Given the description of an element on the screen output the (x, y) to click on. 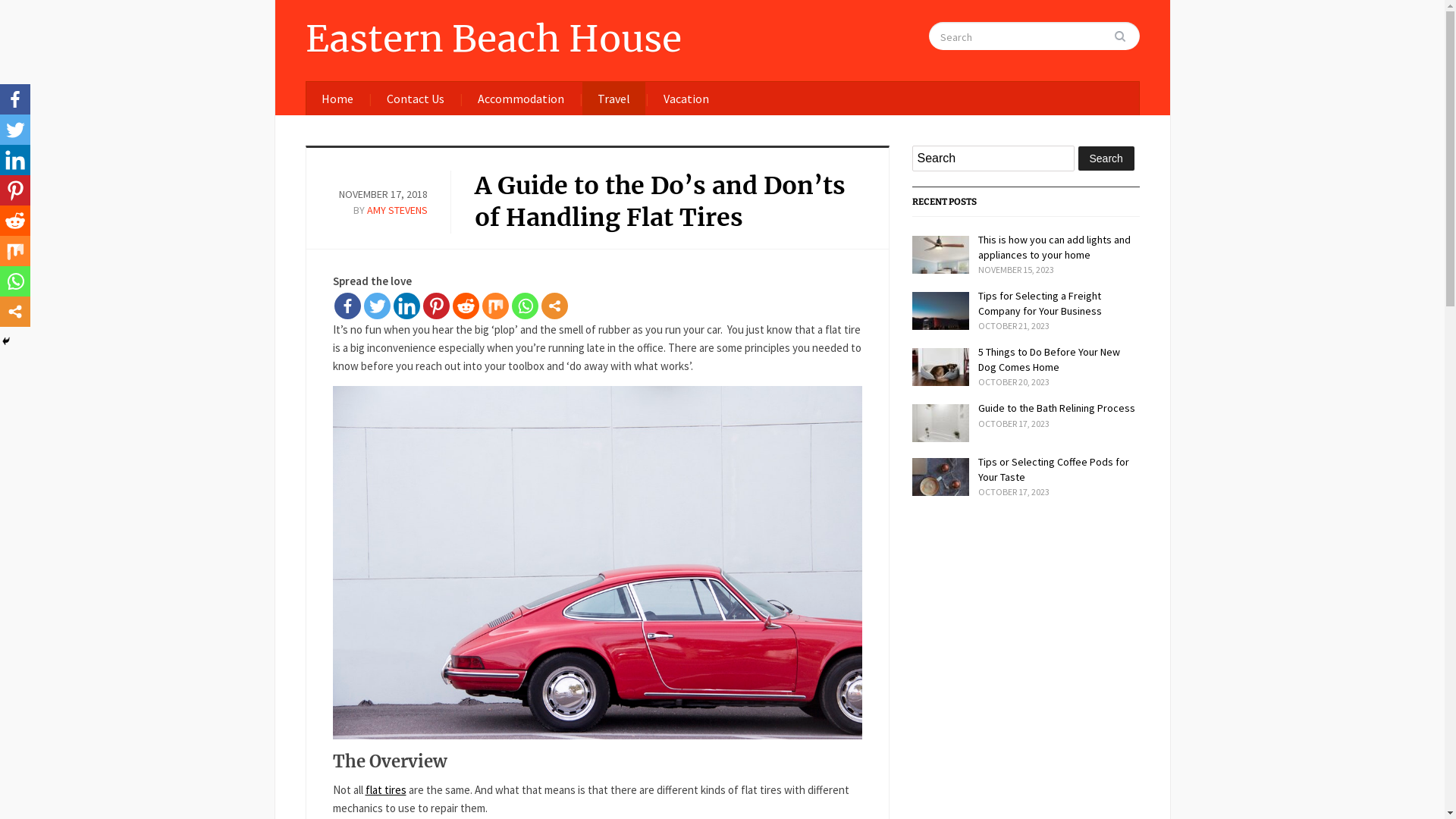
Tips or Selecting Coffee Pods for Your Taste Element type: text (1053, 469)
Guide to the Bath Relining Process Element type: text (1056, 407)
Contact Us Element type: text (415, 98)
More Element type: hover (554, 305)
flat tires Element type: text (385, 789)
Pinterest Element type: hover (436, 305)
Mix Element type: hover (495, 305)
Vacation Element type: text (685, 98)
More Element type: hover (15, 311)
LinkedIn Element type: hover (405, 305)
Mix Element type: hover (15, 250)
Twitter Element type: hover (377, 305)
Reddit Element type: hover (464, 305)
Pinterest Element type: hover (15, 190)
Eastern Beach House Element type: text (492, 38)
Search Element type: text (1106, 158)
Home Element type: text (337, 98)
Search Element type: text (1125, 35)
This is how you can add lights and appliances to your home Element type: text (1054, 246)
Whatsapp Element type: hover (524, 305)
5 Things to Do Before Your New Dog Comes Home Element type: text (1049, 359)
LinkedIn Element type: hover (15, 159)
Hide Element type: hover (6, 341)
Travel Element type: text (613, 98)
Tips for Selecting a Freight Company for Your Business Element type: text (1039, 302)
Reddit Element type: hover (15, 220)
Twitter Element type: hover (15, 129)
AMY STEVENS Element type: text (397, 209)
Whatsapp Element type: hover (15, 281)
Facebook Element type: hover (346, 305)
Facebook Element type: hover (15, 99)
Accommodation Element type: text (520, 98)
